Given the description of an element on the screen output the (x, y) to click on. 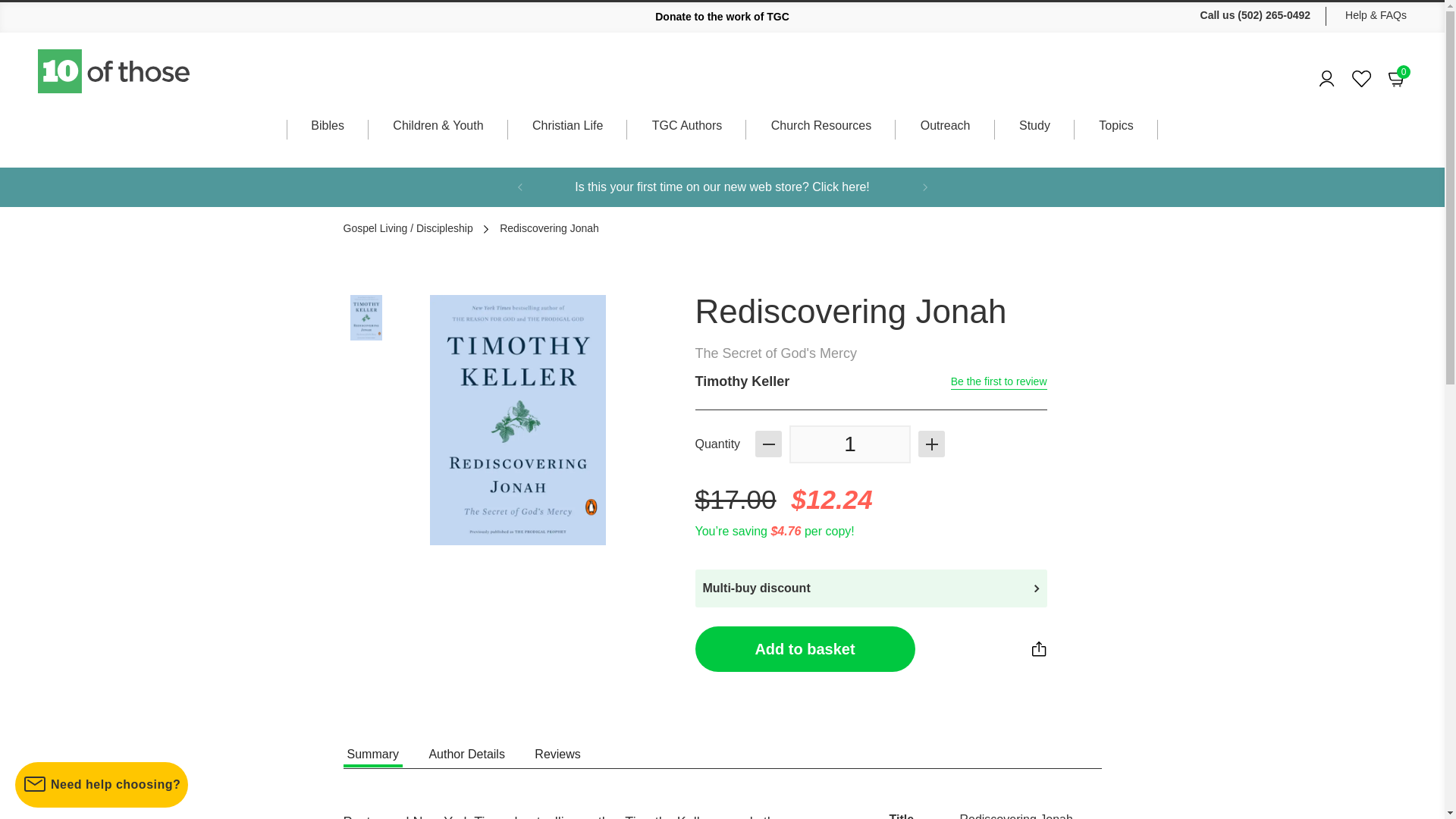
Favourites (1361, 78)
10 of those (114, 71)
Donate to the work of TGC (722, 16)
1 (1397, 77)
Account (850, 444)
